Given the description of an element on the screen output the (x, y) to click on. 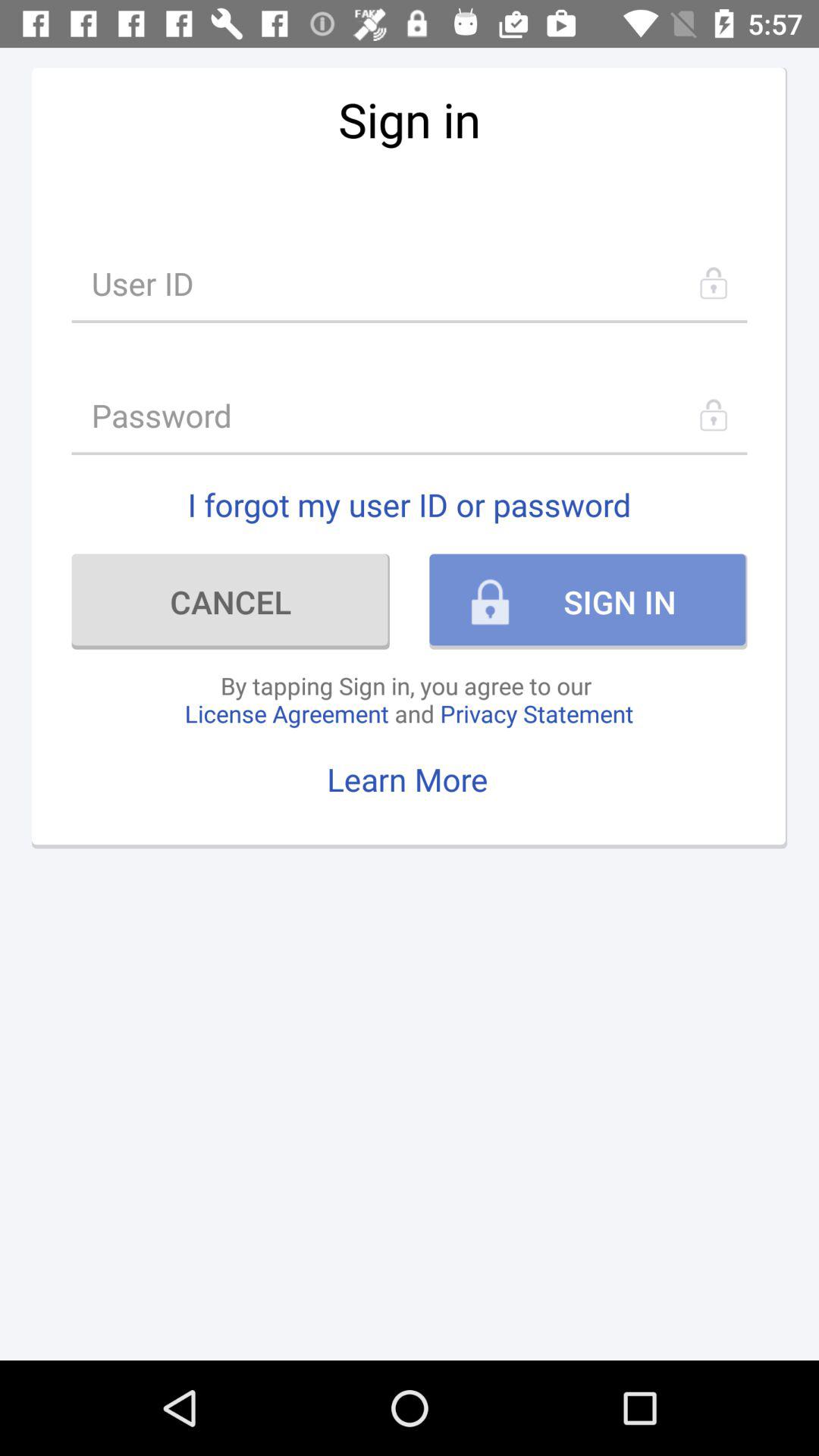
choose the icon on the left (230, 601)
